Given the description of an element on the screen output the (x, y) to click on. 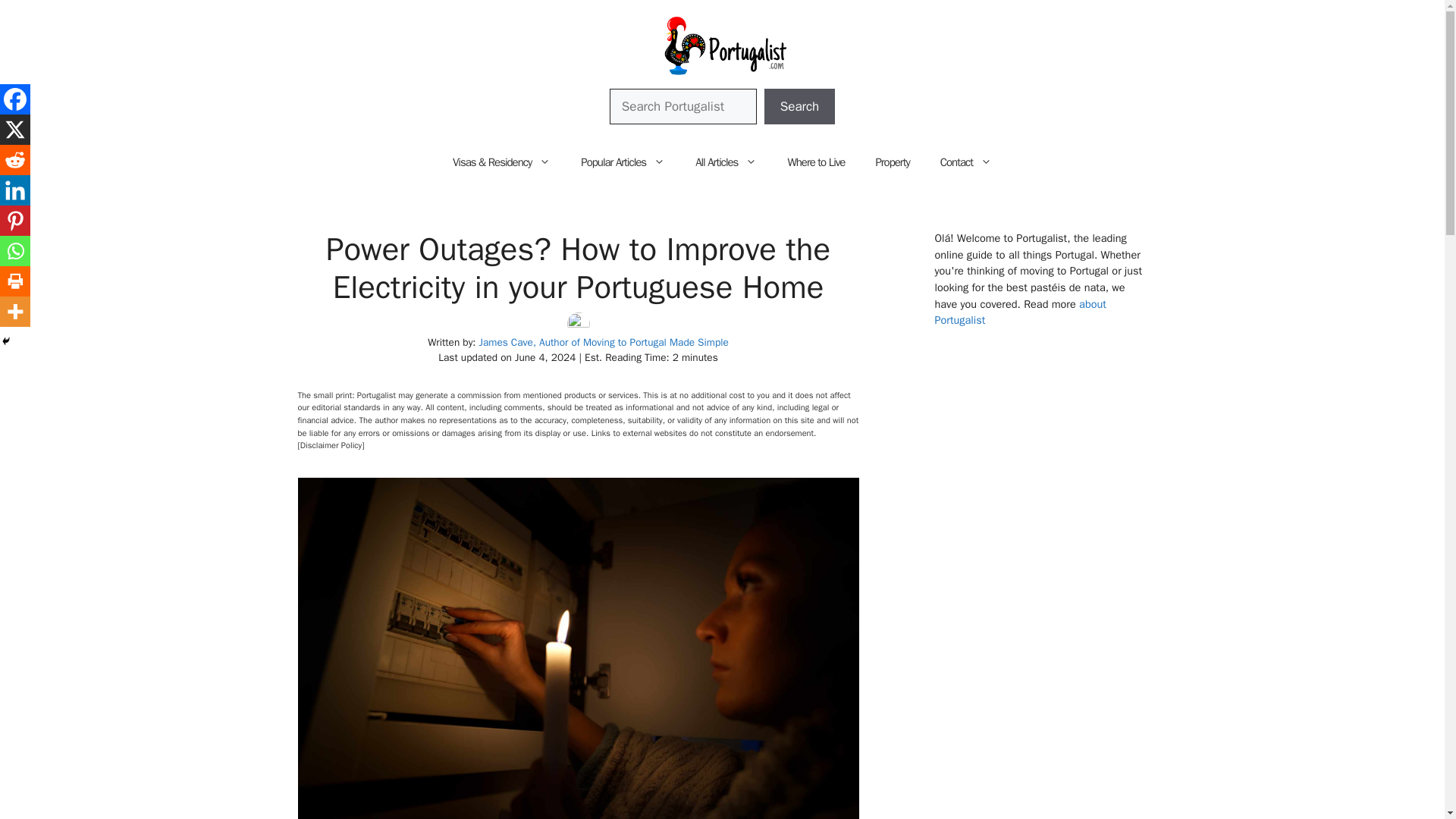
Search (799, 106)
Facebook (15, 99)
Popular Articles (622, 162)
Whatsapp (15, 250)
X (15, 129)
Linkedin (15, 190)
Pinterest (15, 220)
Reddit (15, 159)
All Articles (725, 162)
